Given the description of an element on the screen output the (x, y) to click on. 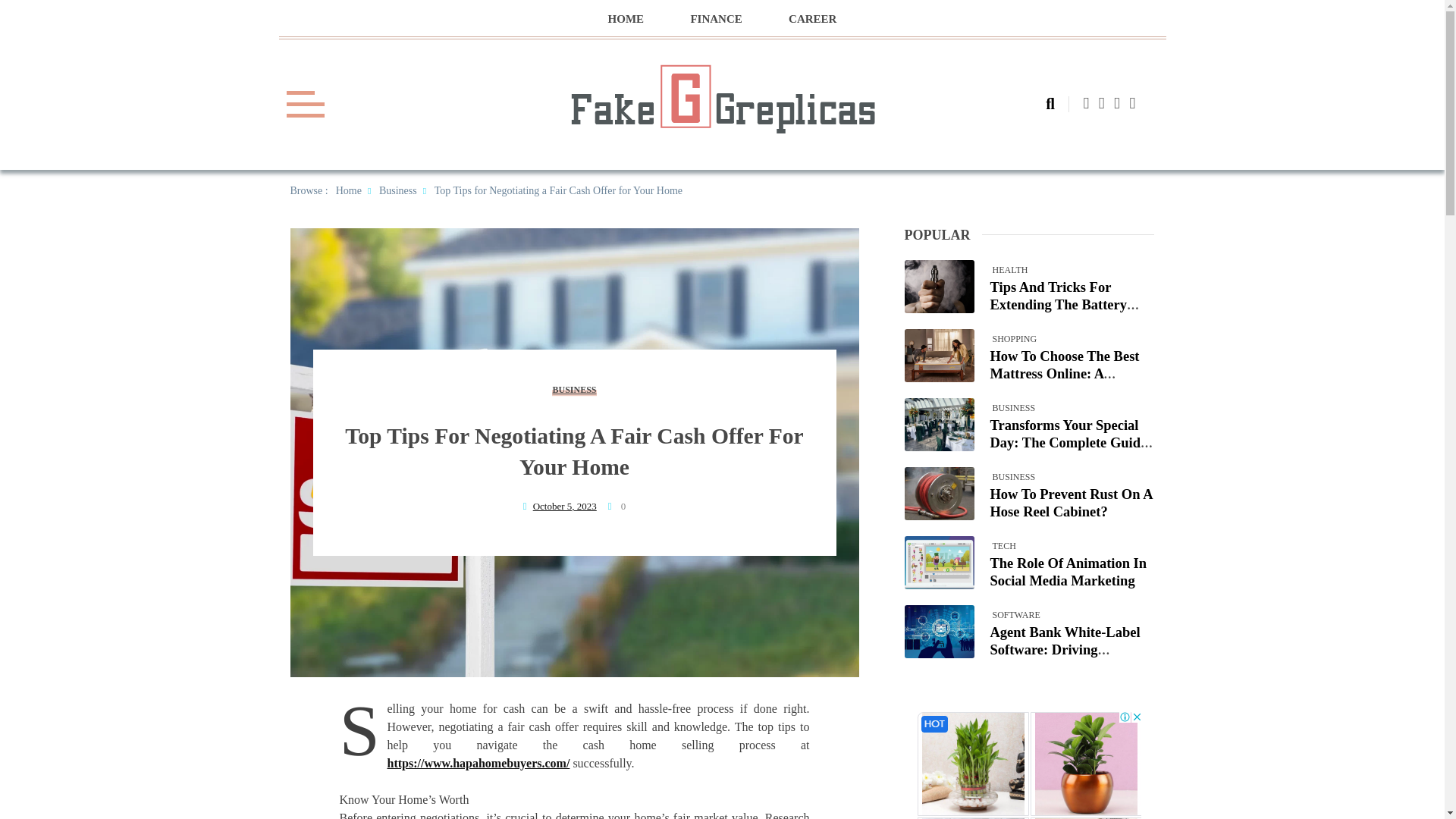
SHOPPING (1013, 338)
BUSINESS (1013, 476)
CAREER (812, 19)
BUSINESS (1013, 407)
HEALTH (1009, 268)
Home (348, 190)
How To Prevent Rust On A Hose Reel Cabinet? (1070, 502)
